Given the description of an element on the screen output the (x, y) to click on. 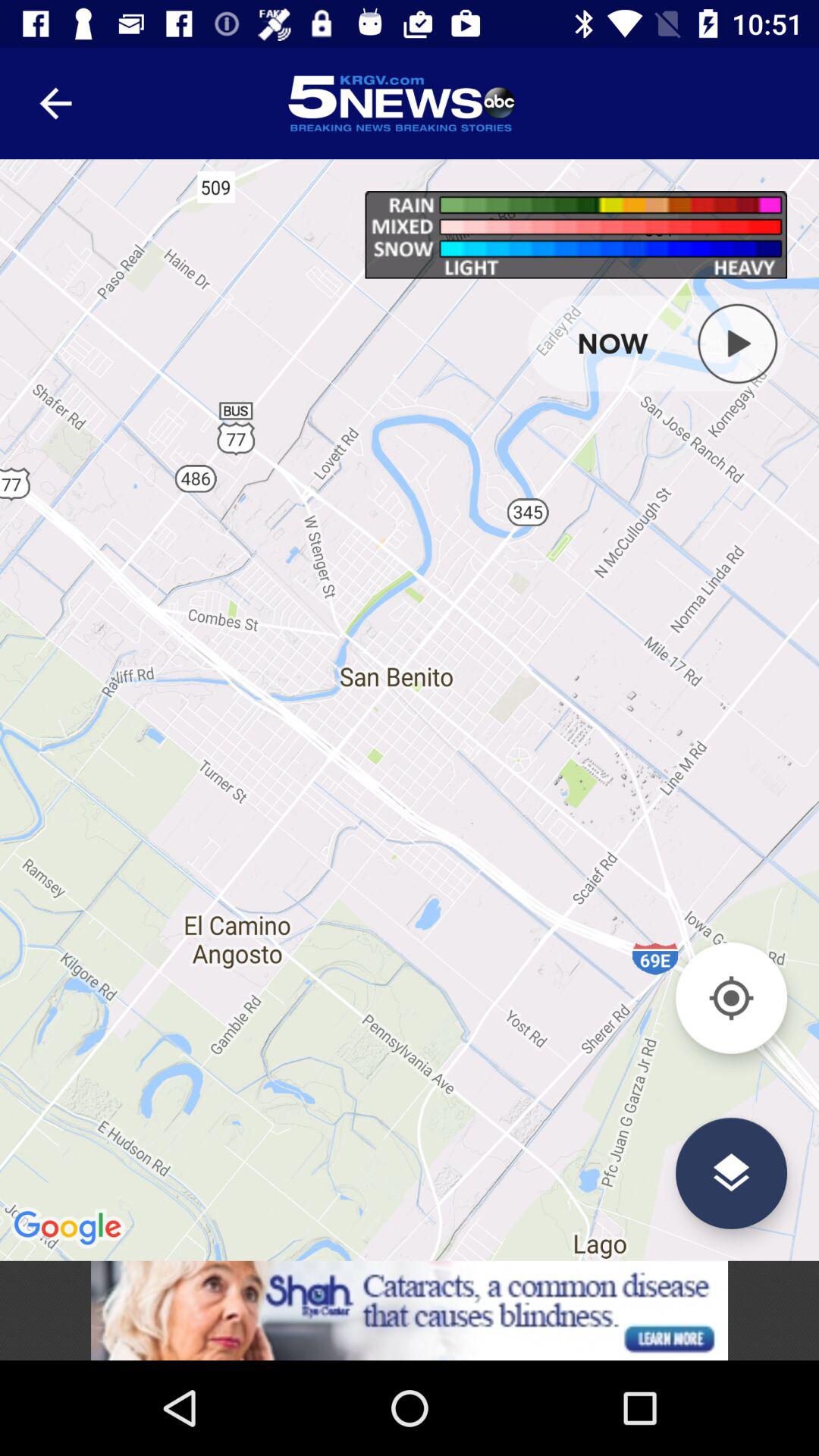
location of the option (731, 1173)
